Given the description of an element on the screen output the (x, y) to click on. 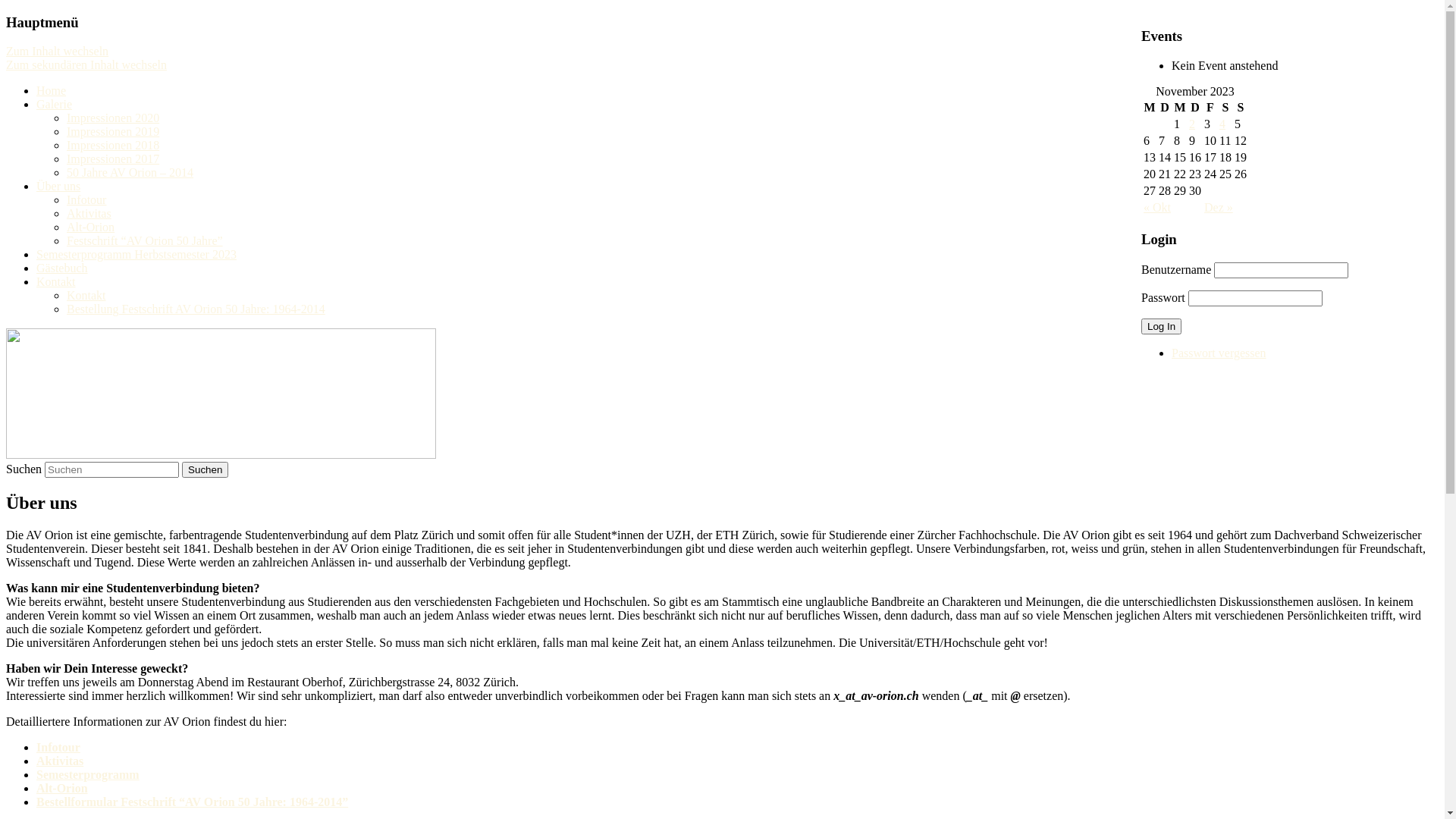
Infotour Element type: text (86, 199)
Alt-Orion Element type: text (90, 226)
Home Element type: text (50, 90)
Bestellung Festschrift AV Orion 50 Jahre: 1964-2014 Element type: text (195, 308)
Semesterprogramm Herbstsemester 2023 Element type: text (136, 253)
Semesterprogramm Element type: text (87, 774)
Passwort vergessen Element type: text (1218, 352)
Impressionen 2018 Element type: text (112, 144)
Impressionen 2020 Element type: text (112, 117)
Zum Inhalt wechseln Element type: text (57, 50)
4 Element type: text (1222, 123)
Log In Element type: text (1161, 326)
Aktivitas Element type: text (59, 760)
Impressionen 2017 Element type: text (112, 158)
Impressionen 2019 Element type: text (112, 131)
Aktivitas Element type: text (88, 213)
Galerie Element type: text (54, 103)
Kontakt Element type: text (86, 294)
2 Element type: text (1192, 123)
Suchen Element type: text (205, 469)
Infotour Element type: text (58, 746)
Kontakt Element type: text (55, 281)
Alt-Orion Element type: text (61, 787)
